Given the description of an element on the screen output the (x, y) to click on. 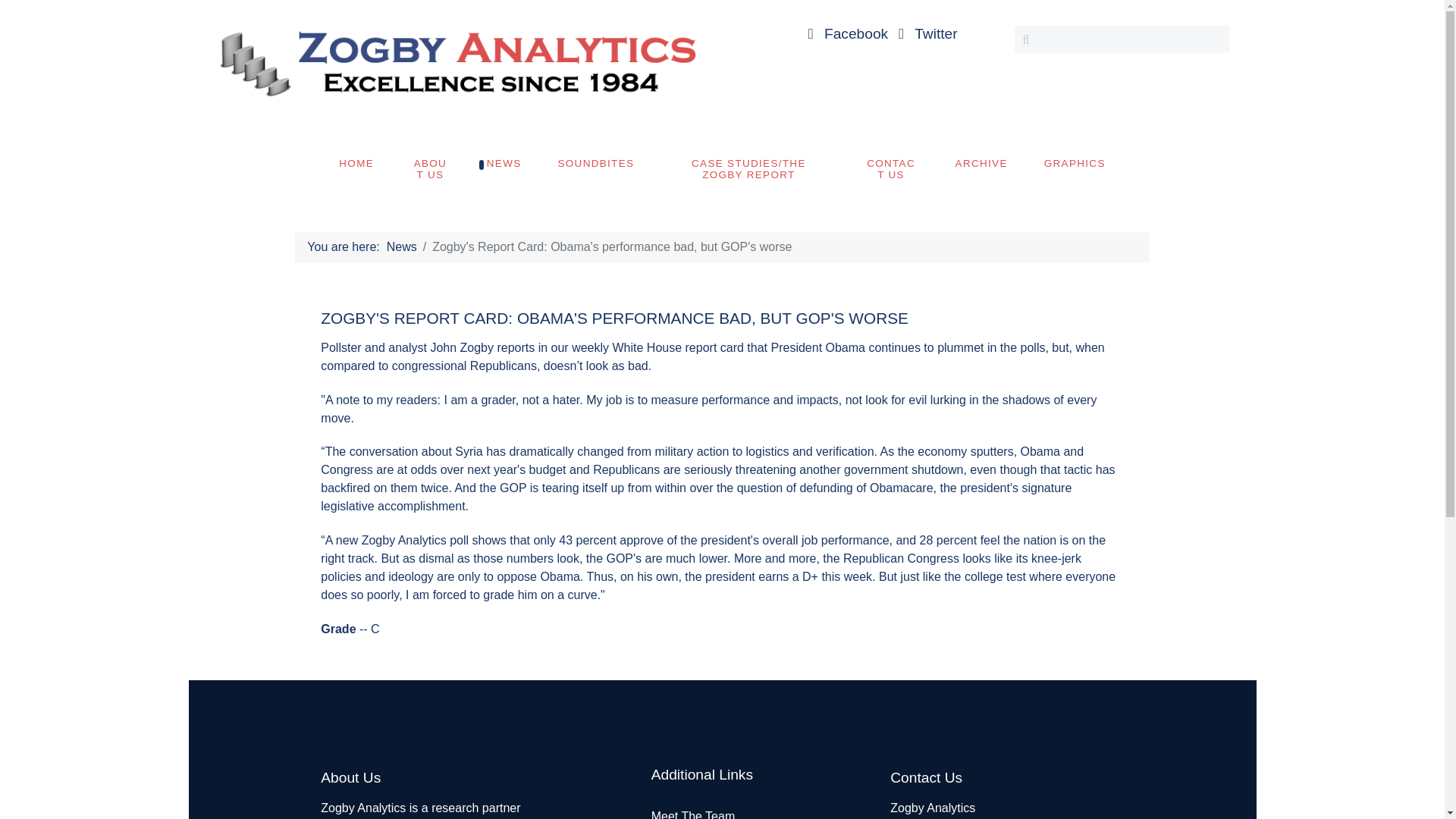
about Syria (452, 451)
next year's budget (516, 469)
GRAPHICS (1075, 162)
defunding of Obamacare, (867, 487)
Meet The Team (692, 814)
Twitter (925, 33)
Zogby Analytics (454, 60)
Twitter (925, 33)
ABOUT US (429, 168)
Facebook (847, 33)
